Given the description of an element on the screen output the (x, y) to click on. 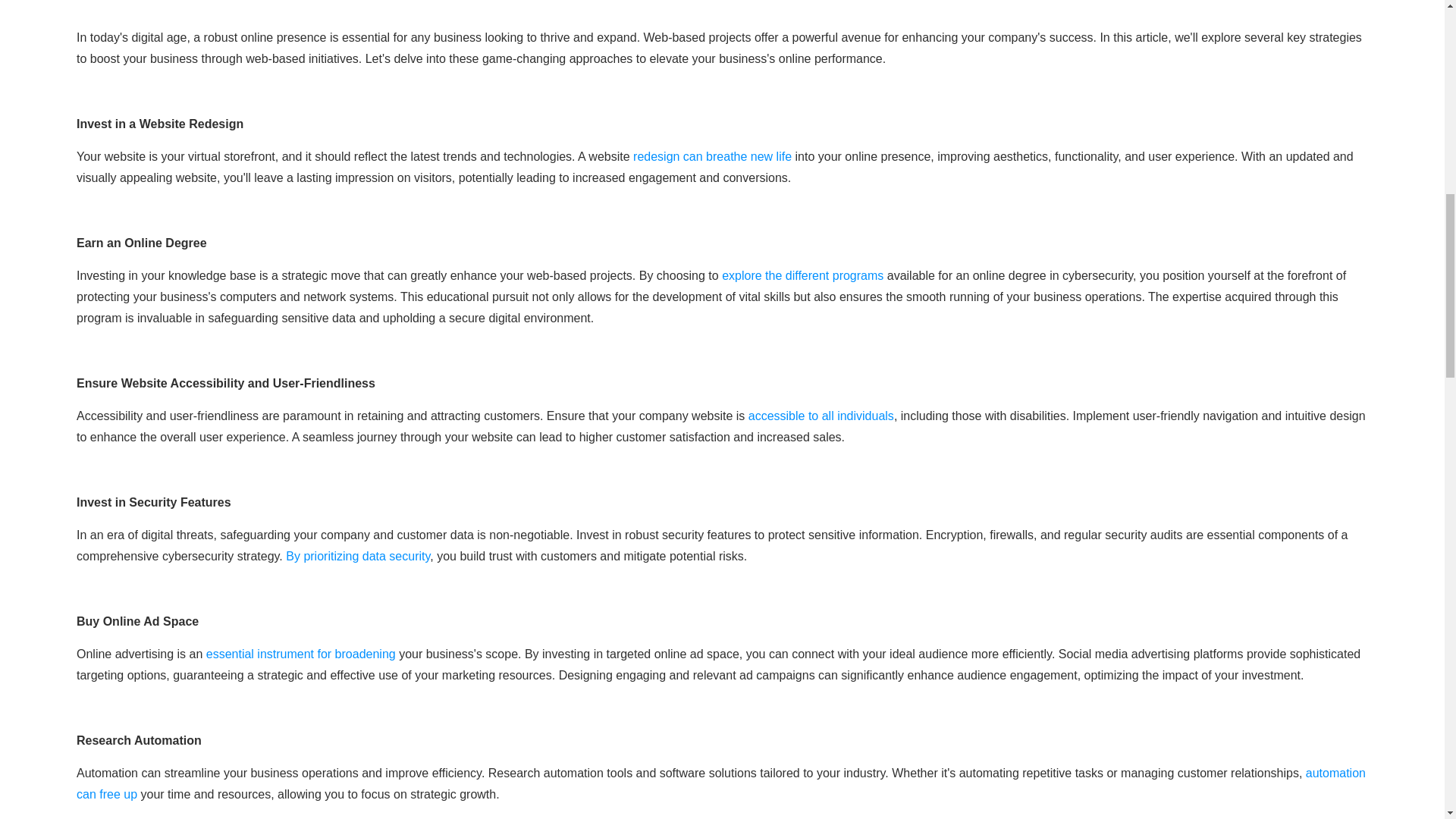
By prioritizing data security (357, 555)
automation can free up (721, 783)
essential instrument for broadening (301, 653)
accessible to all individuals (820, 415)
explore the different programs (802, 275)
redesign can breathe new life (712, 155)
